Given the description of an element on the screen output the (x, y) to click on. 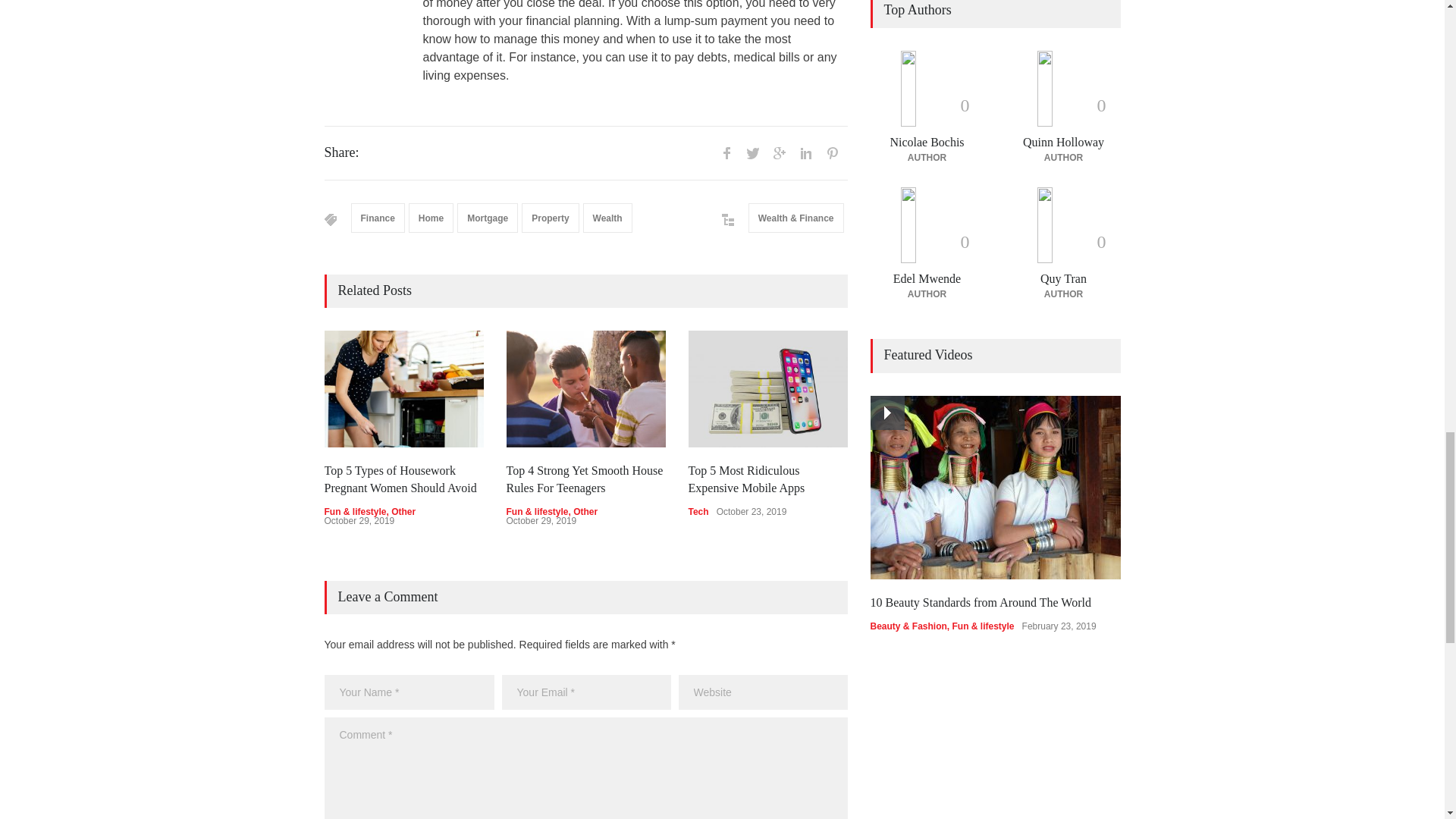
Website (762, 692)
Wealth (607, 217)
Home (430, 217)
Mortgage (487, 217)
Property (549, 217)
Finance (377, 217)
